Given the description of an element on the screen output the (x, y) to click on. 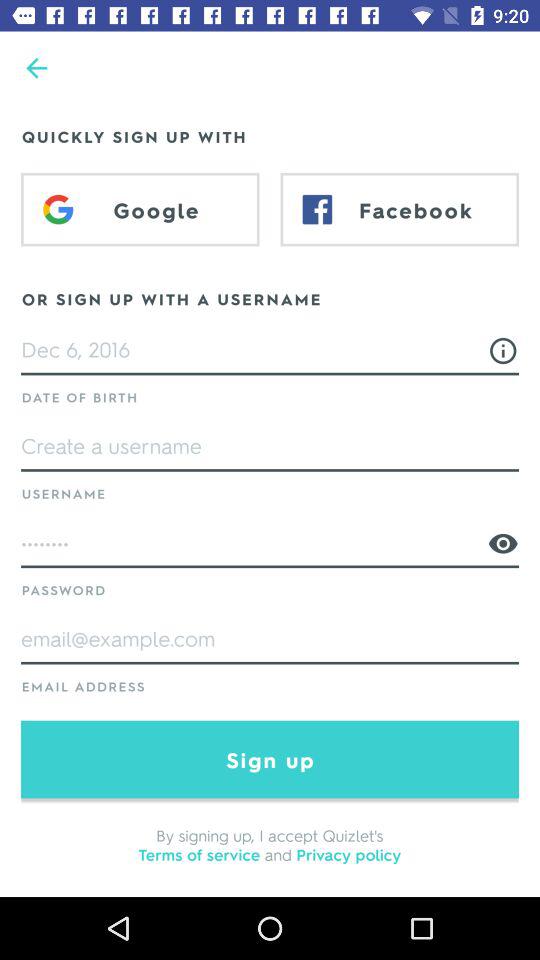
swipe to the by signing up icon (269, 844)
